Given the description of an element on the screen output the (x, y) to click on. 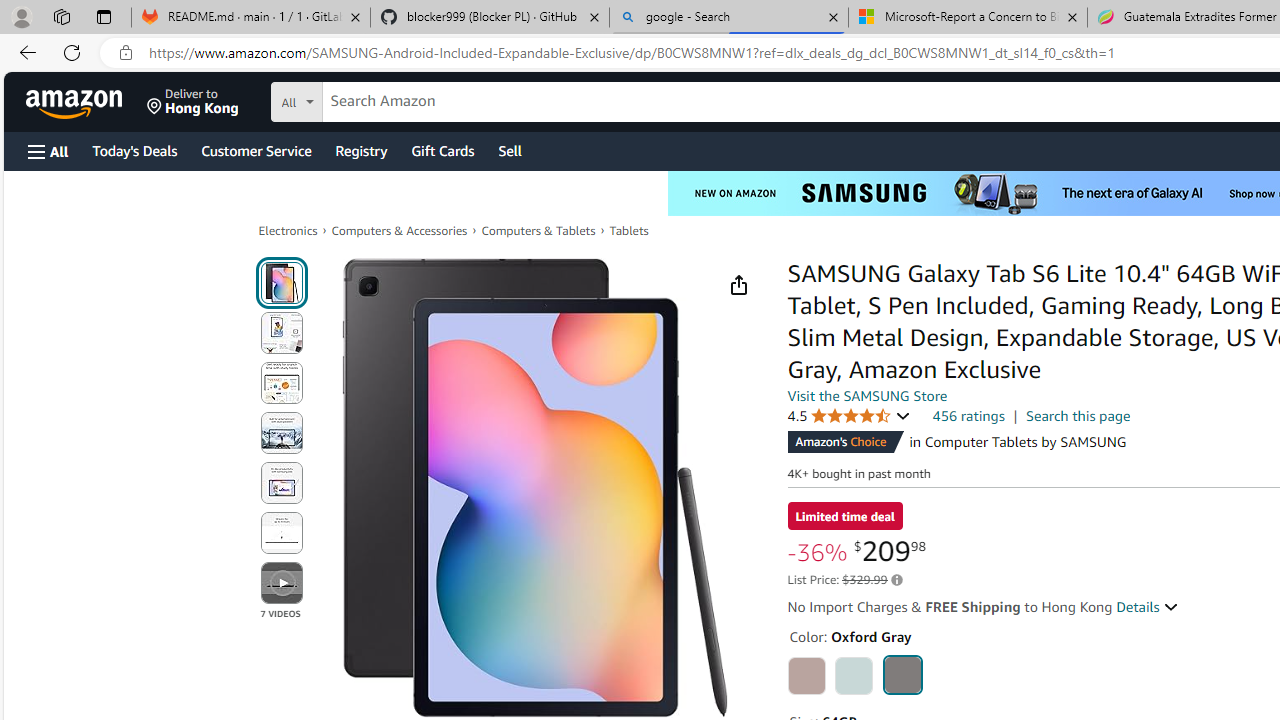
Oxford Gray (902, 674)
Electronics (287, 230)
Search in (371, 102)
Today's Deals (134, 150)
Mint (853, 676)
Tablets (628, 230)
Customer Service (256, 150)
4.5 4.5 out of 5 stars (849, 416)
Electronics (287, 230)
Share (738, 284)
